Given the description of an element on the screen output the (x, y) to click on. 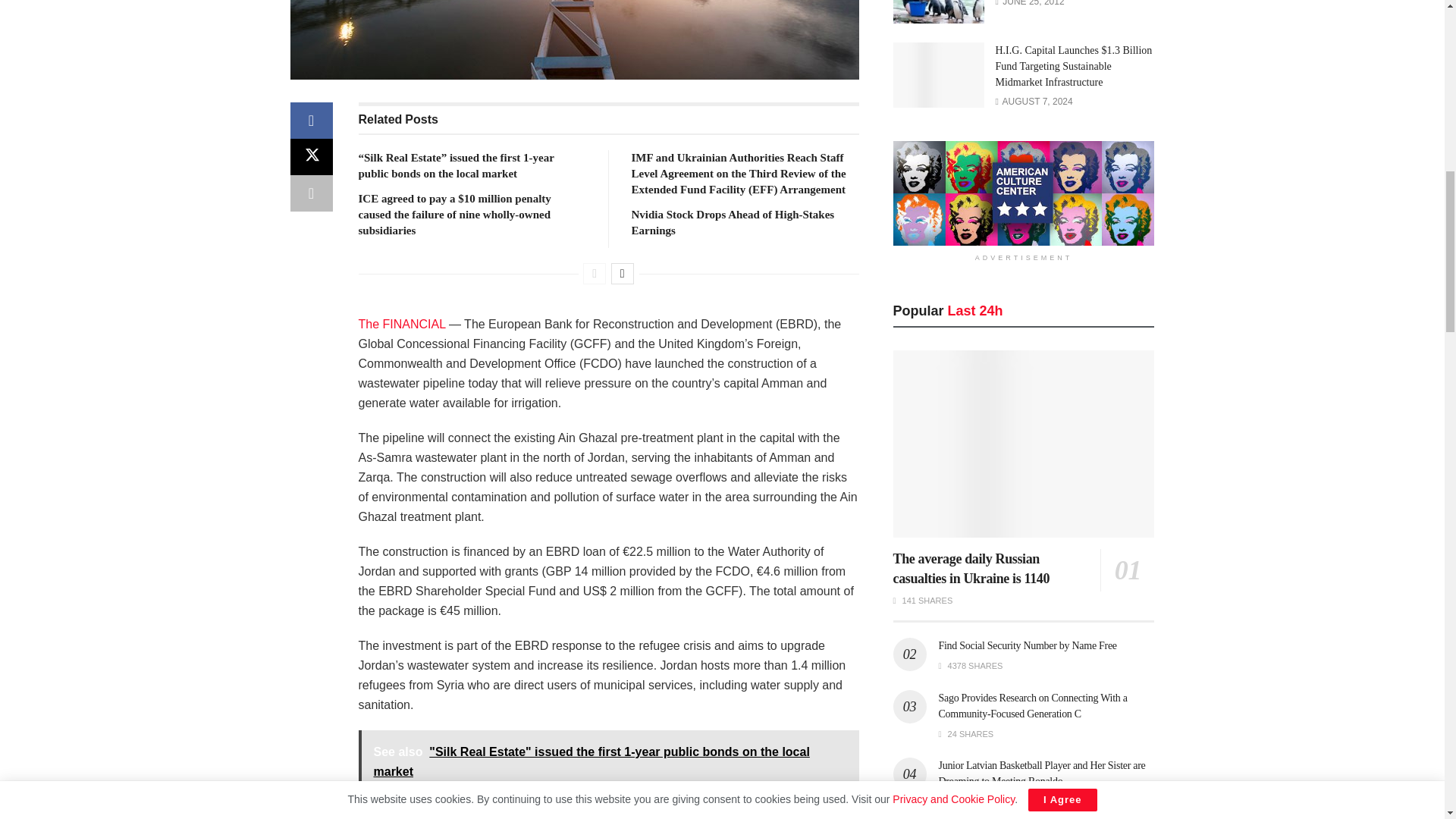
Previous (594, 273)
The FINANCIAL (401, 323)
Next (622, 273)
